Given the description of an element on the screen output the (x, y) to click on. 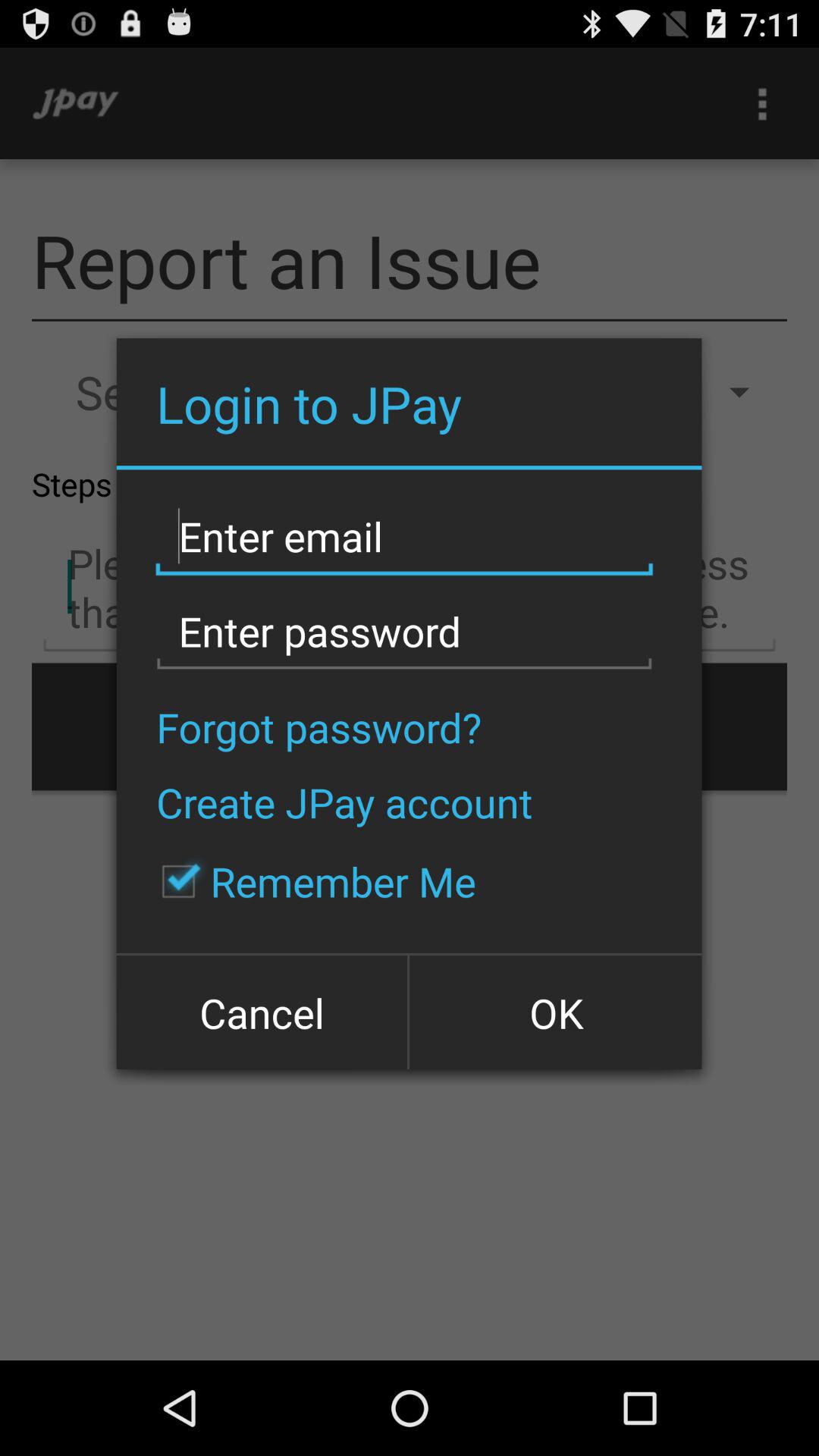
swipe to ok icon (554, 1011)
